Given the description of an element on the screen output the (x, y) to click on. 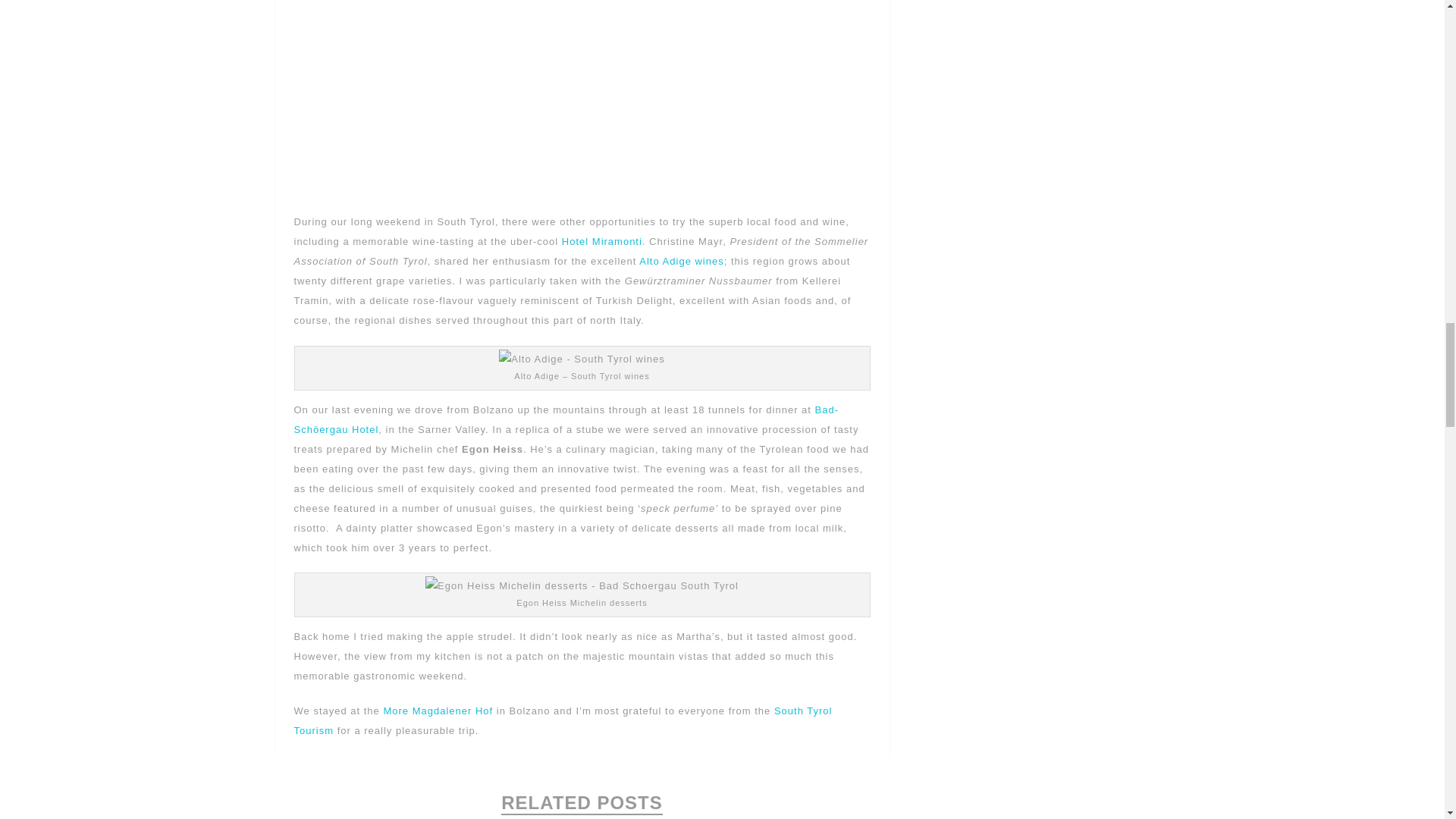
Alto Adige wines (681, 260)
Hotel Miramonti (602, 241)
Hotel Miramonti (602, 241)
Alto Adige - South Tyrol wines (581, 358)
Alto Adige wines (681, 260)
